Given the description of an element on the screen output the (x, y) to click on. 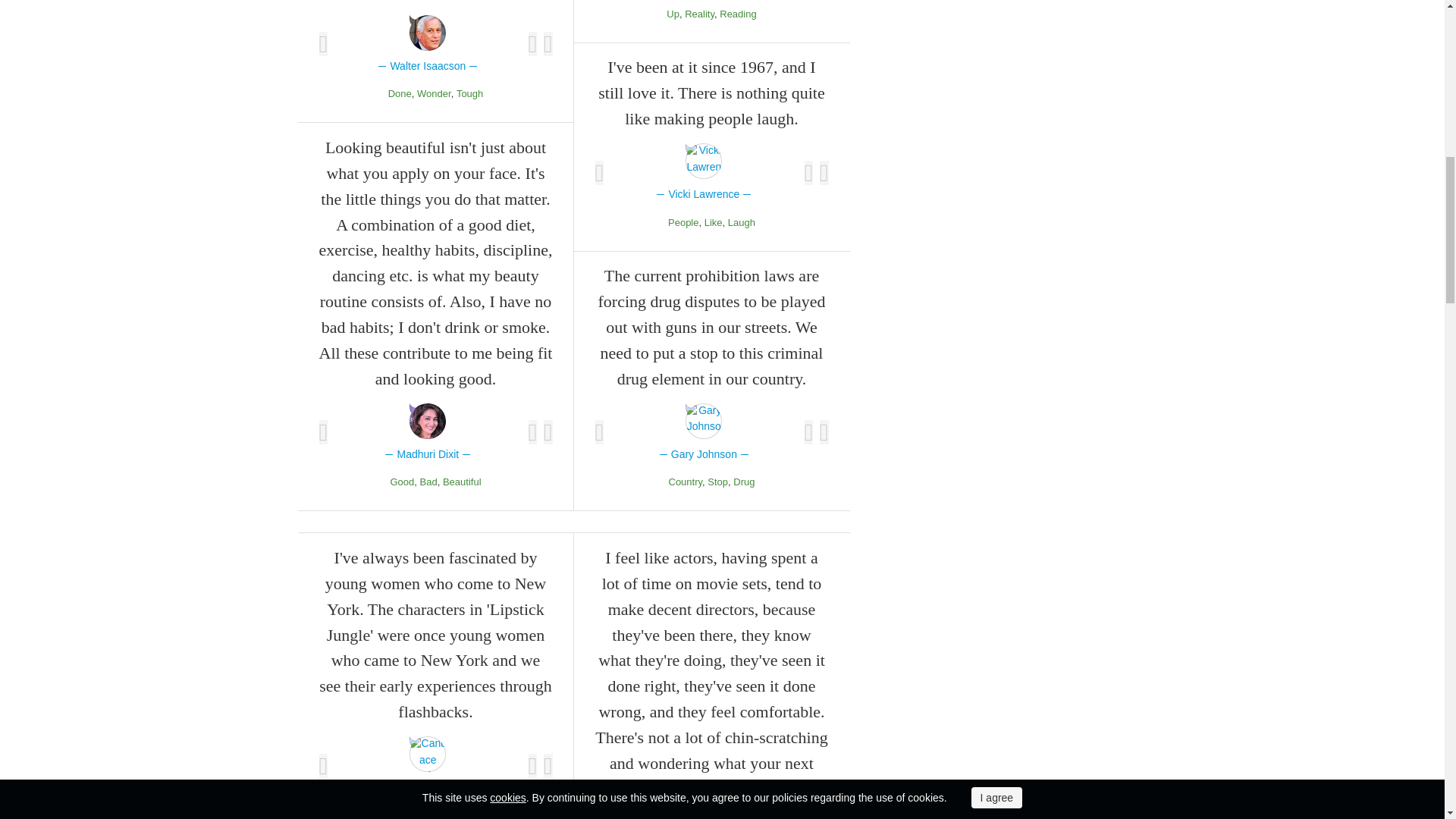
Add to Favorites (322, 432)
Share to Facebook (532, 432)
Tough (470, 93)
Share to Twitter (548, 432)
Done (400, 93)
Add to Favorites (322, 43)
Share to Facebook (532, 43)
Walter Isaacson (427, 44)
Share to Twitter (548, 43)
Wonder (433, 93)
